Given the description of an element on the screen output the (x, y) to click on. 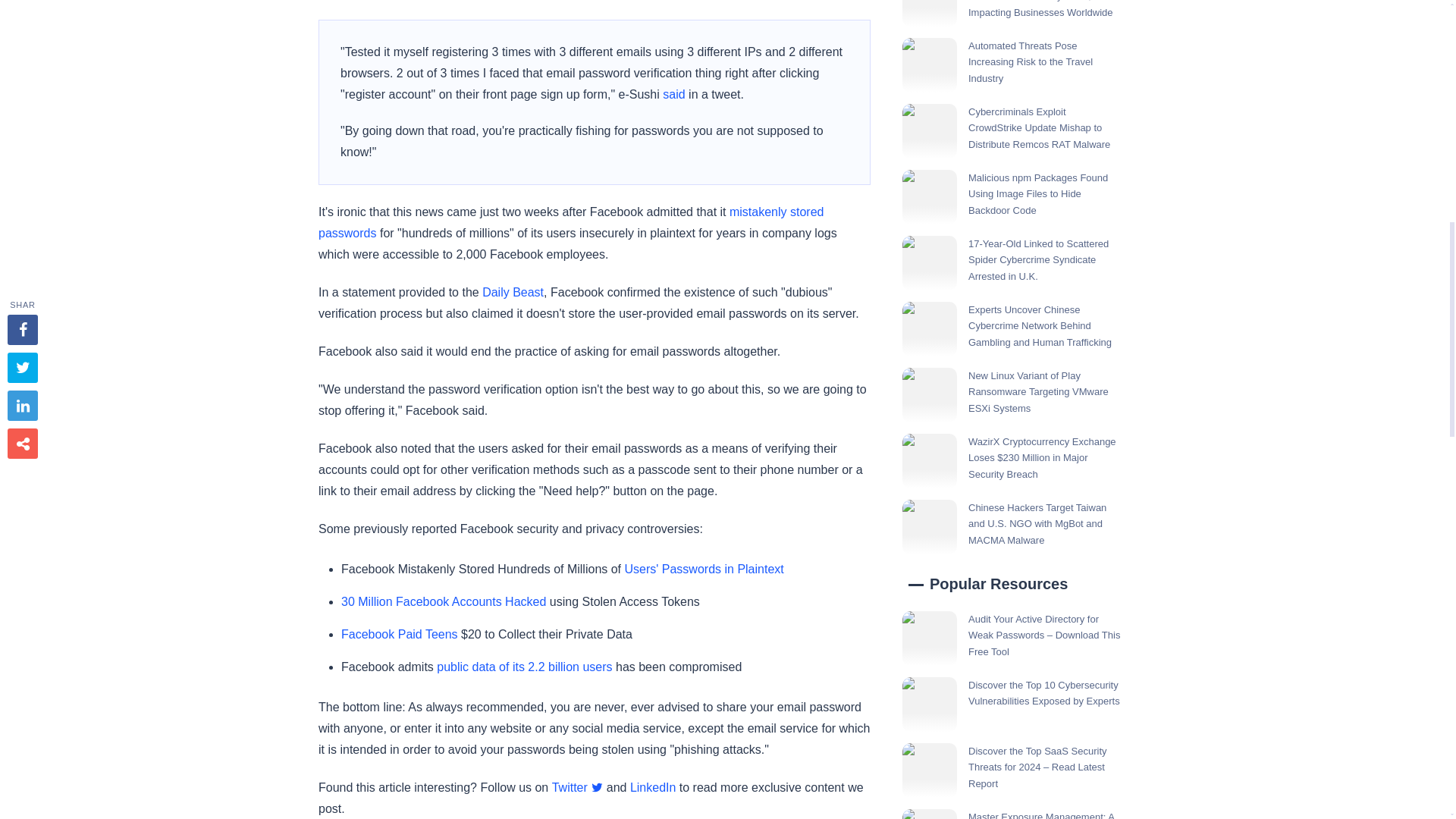
said (673, 93)
mistakenly stored passwords (571, 222)
Daily Beast (512, 291)
